Given the description of an element on the screen output the (x, y) to click on. 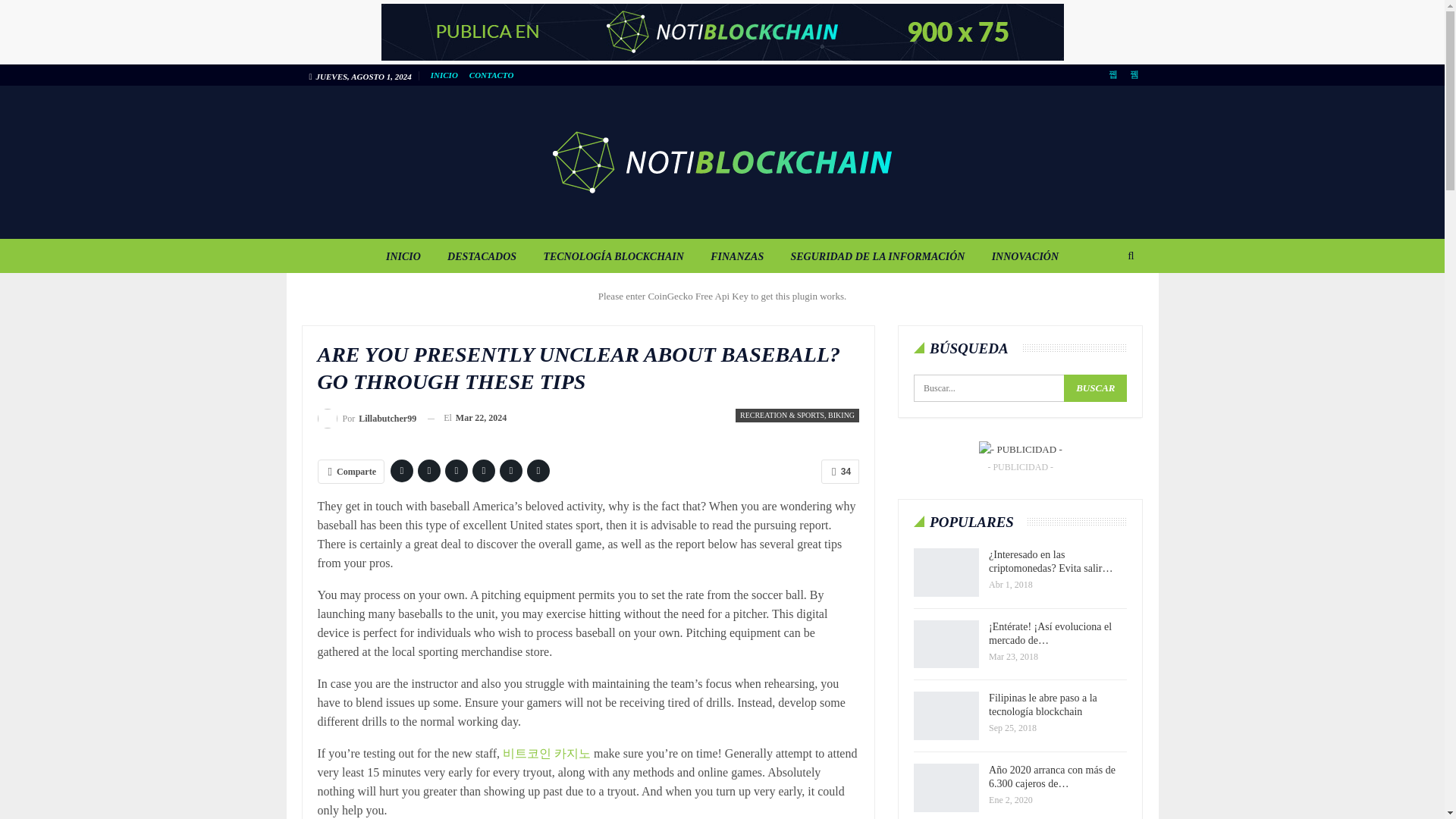
CONTACTO (490, 74)
FINANZAS (737, 257)
Buscar (1095, 388)
DESTACADOS (481, 257)
Buscar (1095, 388)
Por Lillabutcher99 (366, 417)
INICIO (403, 257)
Buscar: (1020, 388)
INICIO (444, 74)
